Given the description of an element on the screen output the (x, y) to click on. 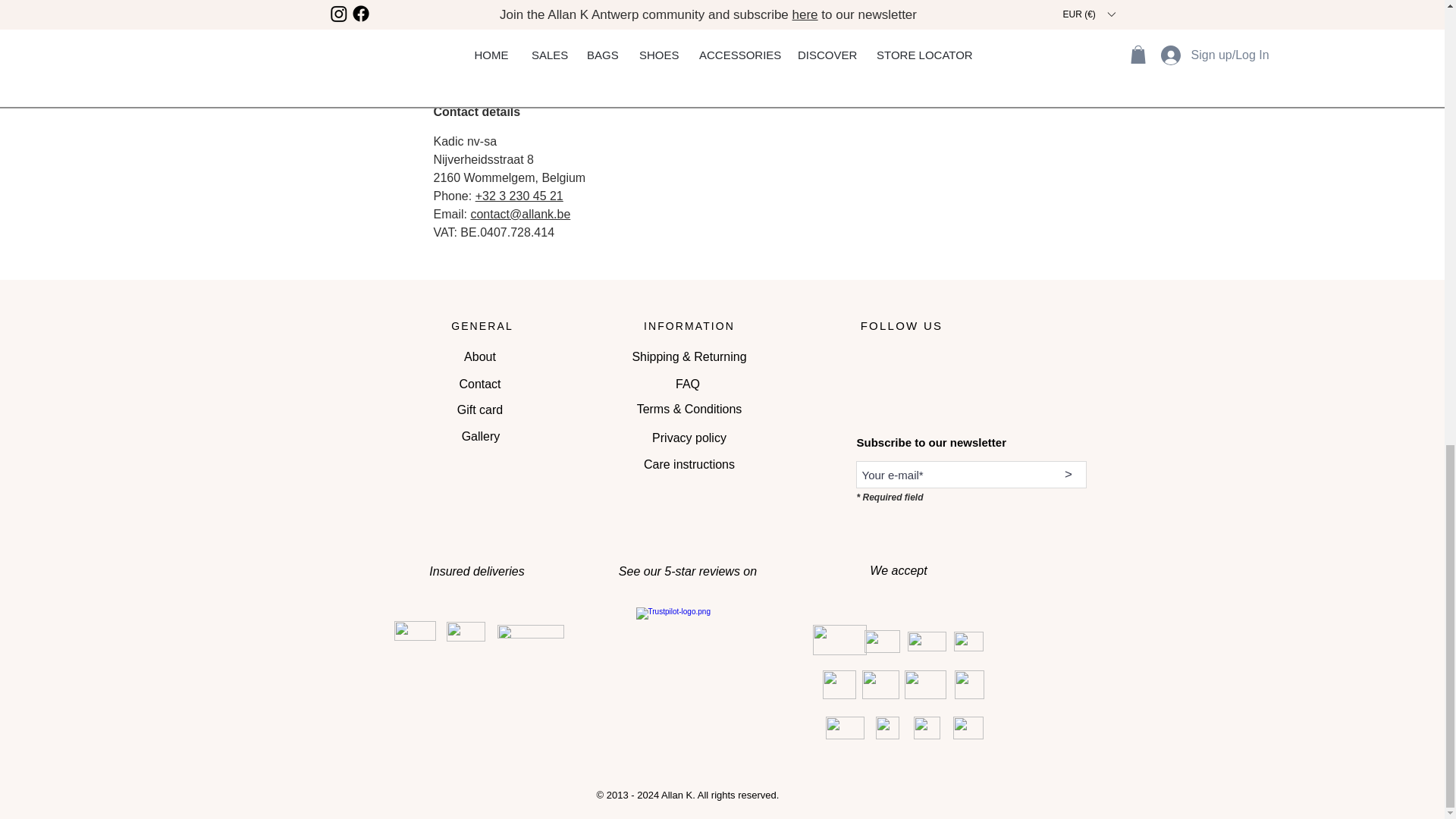
Privacy policy (690, 438)
FAQ (687, 384)
About (479, 357)
Care instructions (689, 464)
Gallery (480, 436)
Gift card (479, 409)
Contact (479, 384)
